Given the description of an element on the screen output the (x, y) to click on. 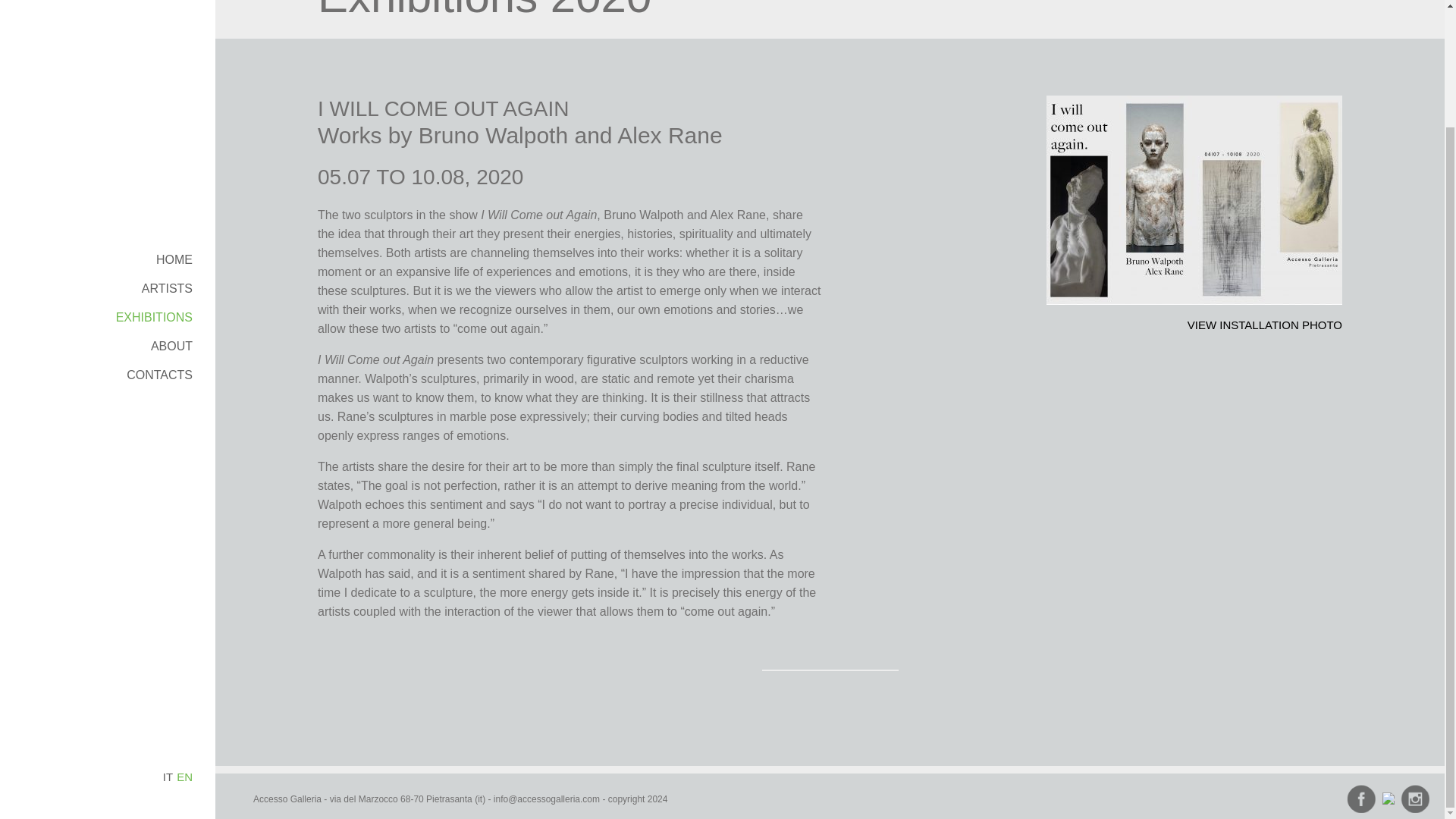
ABOUT (171, 205)
VIEW INSTALLATION PHOTO (1265, 324)
ARTISTS (166, 148)
EXHIBITIONS (154, 177)
HOME (173, 119)
EN (184, 636)
CONTACTS (159, 235)
